Given the description of an element on the screen output the (x, y) to click on. 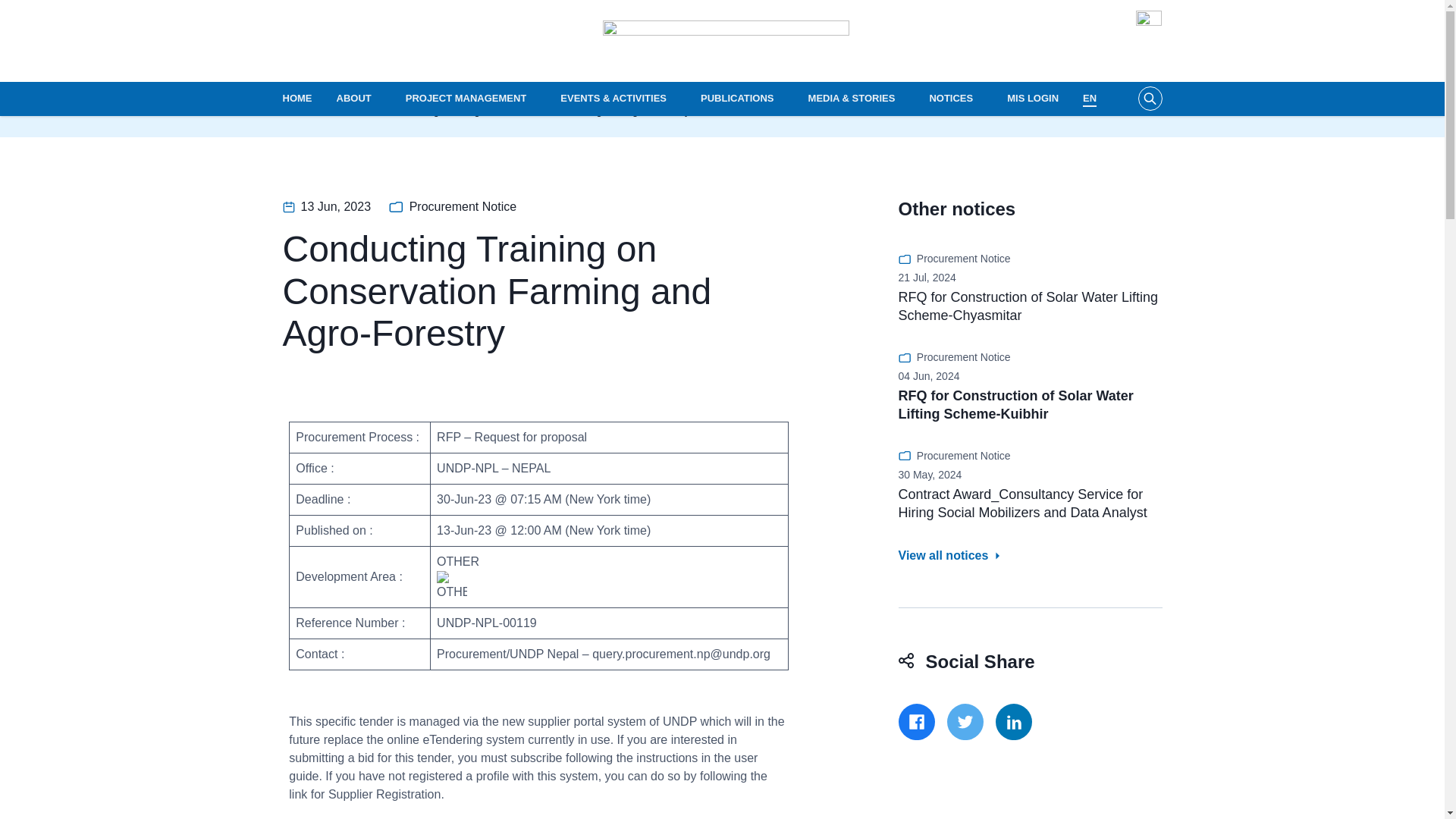
Left Logo (428, 40)
Middle Logo (725, 40)
Grievance Mechanism (48, 12)
